Given the description of an element on the screen output the (x, y) to click on. 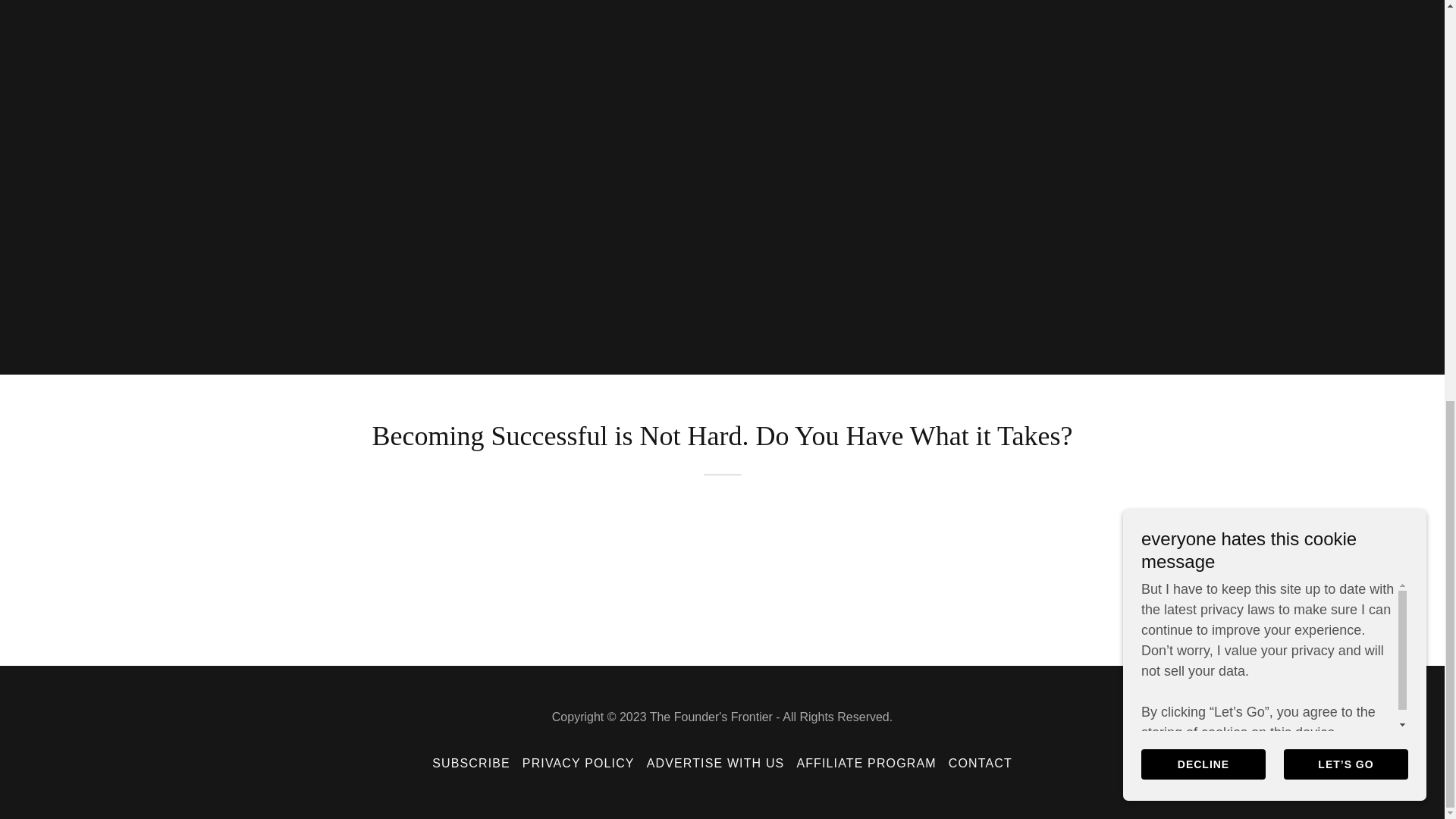
SUBSCRIBE (471, 763)
CONTACT (979, 763)
AFFILIATE PROGRAM (866, 763)
ADVERTISE WITH US (715, 763)
PRIVACY POLICY (578, 763)
